Given the description of an element on the screen output the (x, y) to click on. 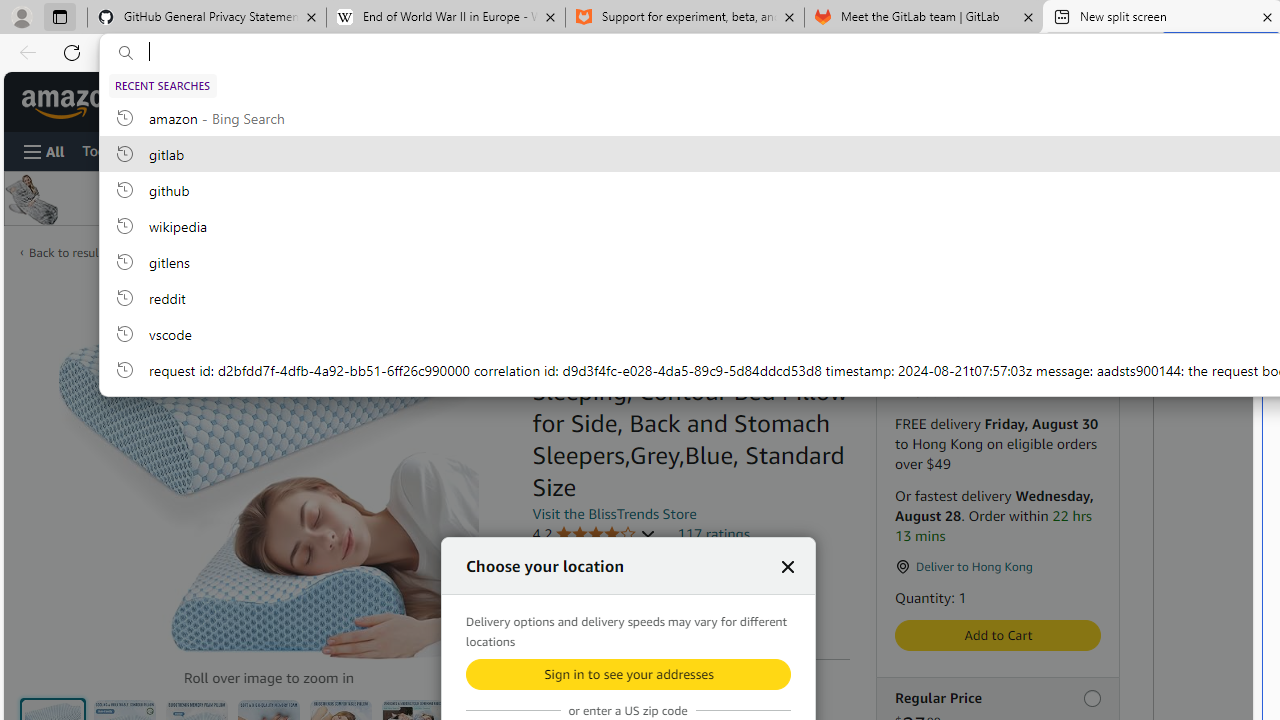
Open Menu (44, 151)
Lightning Deal $19.99 (997, 327)
Gift Cards (414, 150)
Sustainability features (542, 616)
Logo (661, 198)
1 item in cart (1084, 101)
Customer Service (240, 150)
Meet the GitLab team | GitLab (924, 17)
End of World War II in Europe - Wikipedia (445, 17)
Search Amazon (501, 101)
Prime (1019, 198)
GitHub General Privacy Statement - GitHub Docs (207, 17)
